Given the description of an element on the screen output the (x, y) to click on. 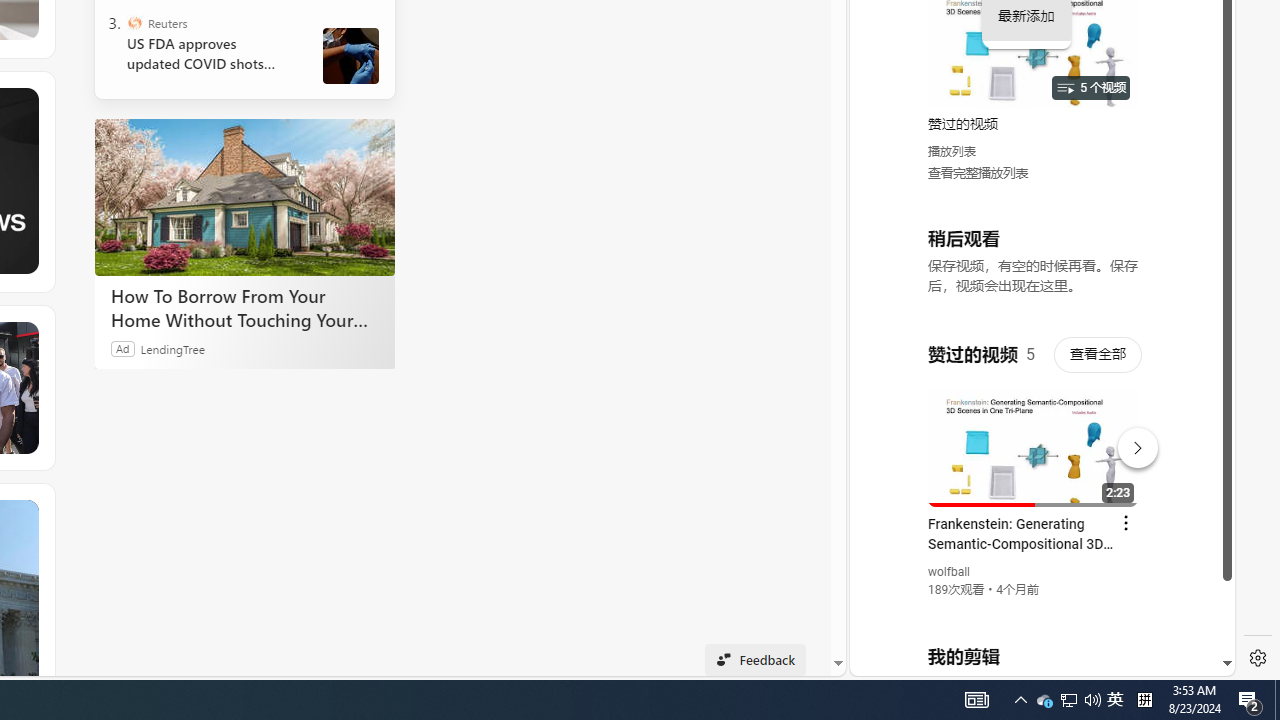
#you (1034, 439)
How To Borrow From Your Home Without Touching Your Mortgage (244, 196)
